Given the description of an element on the screen output the (x, y) to click on. 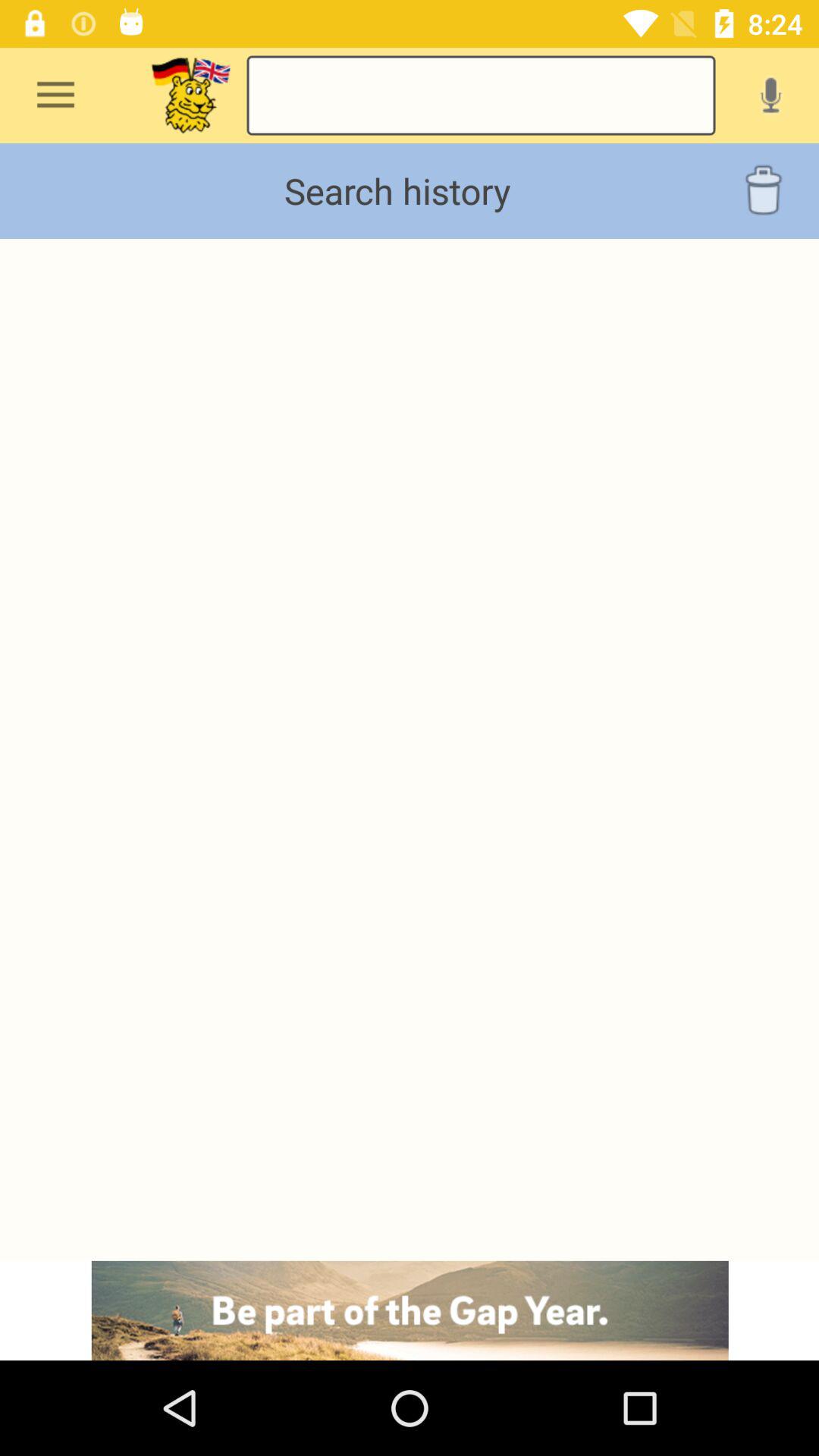
voice recording message (770, 94)
